Given the description of an element on the screen output the (x, y) to click on. 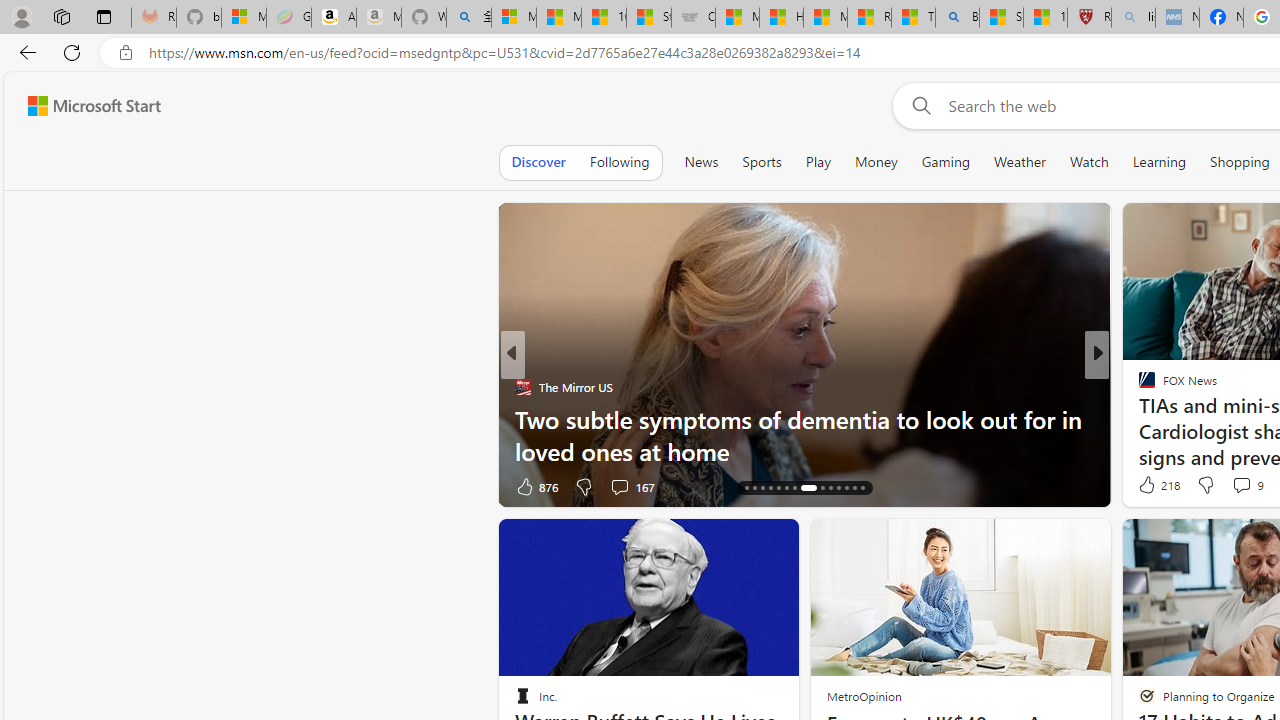
Hide this story (738, 542)
AutomationID: tab-16 (754, 487)
AutomationID: tab-24 (829, 487)
Learning (1159, 162)
